Given the description of an element on the screen output the (x, y) to click on. 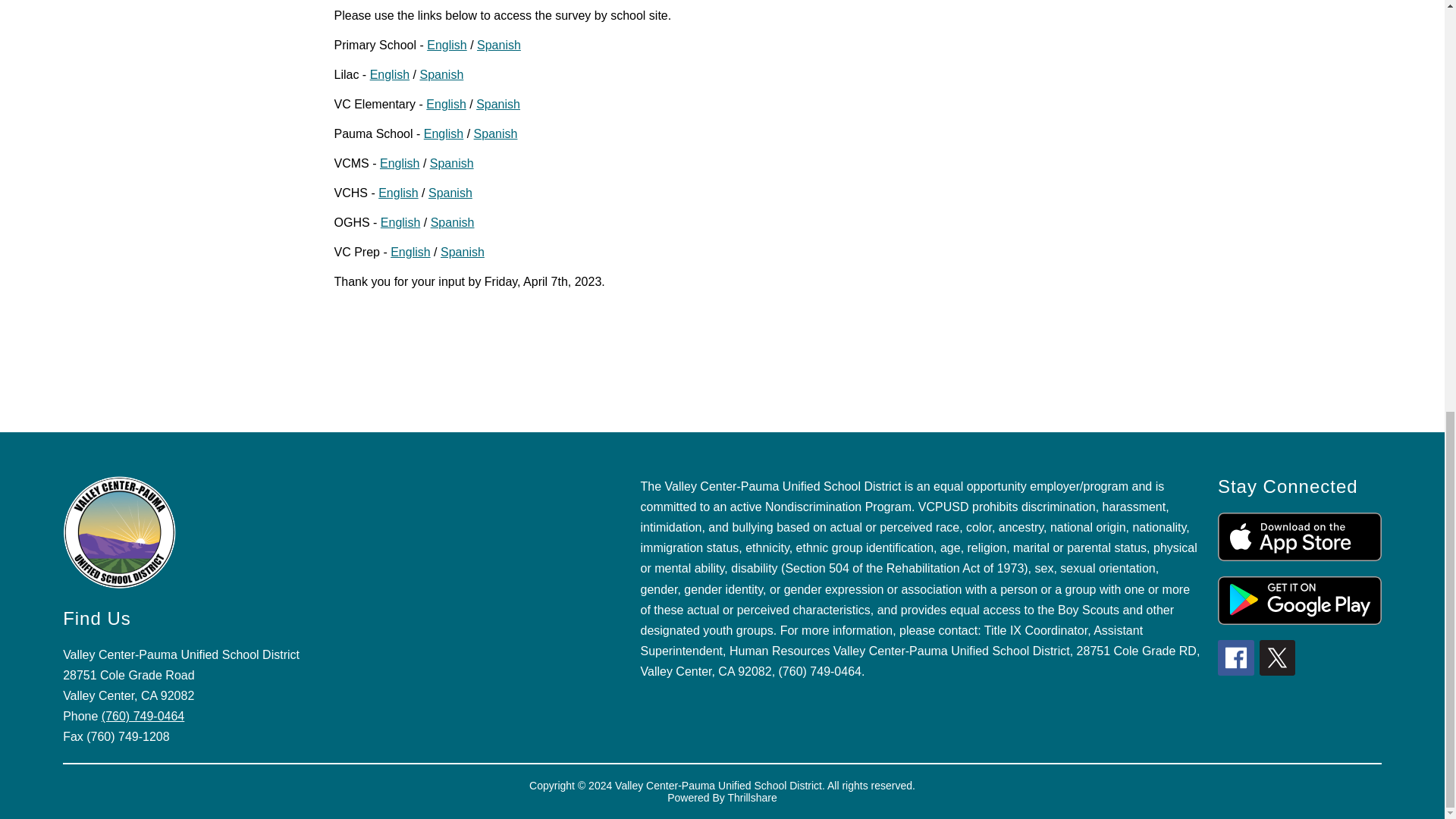
Thrillshare (751, 797)
English (399, 163)
Spanish (449, 192)
Spanish (441, 74)
English (400, 222)
English (389, 74)
English (409, 251)
Spanish (496, 133)
English (443, 133)
English (445, 103)
